Given the description of an element on the screen output the (x, y) to click on. 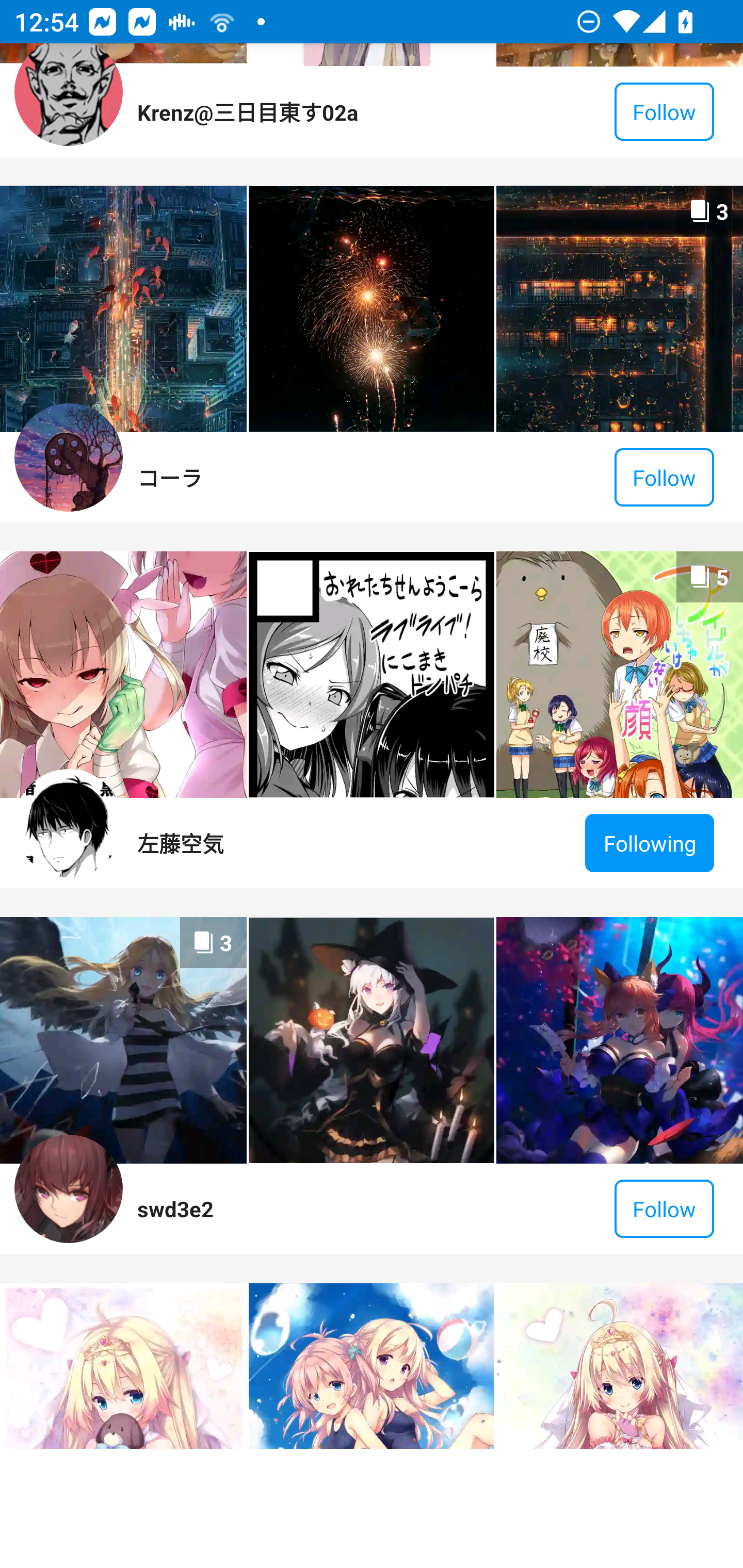
Krenz@三日目東す02a (247, 111)
Follow (664, 112)
3 (619, 308)
コーラ (169, 477)
Follow (664, 477)
5 (619, 674)
左藤空気 (180, 842)
Following (649, 842)
3 (123, 1040)
swd3e2 (175, 1208)
Follow (664, 1208)
